Given the description of an element on the screen output the (x, y) to click on. 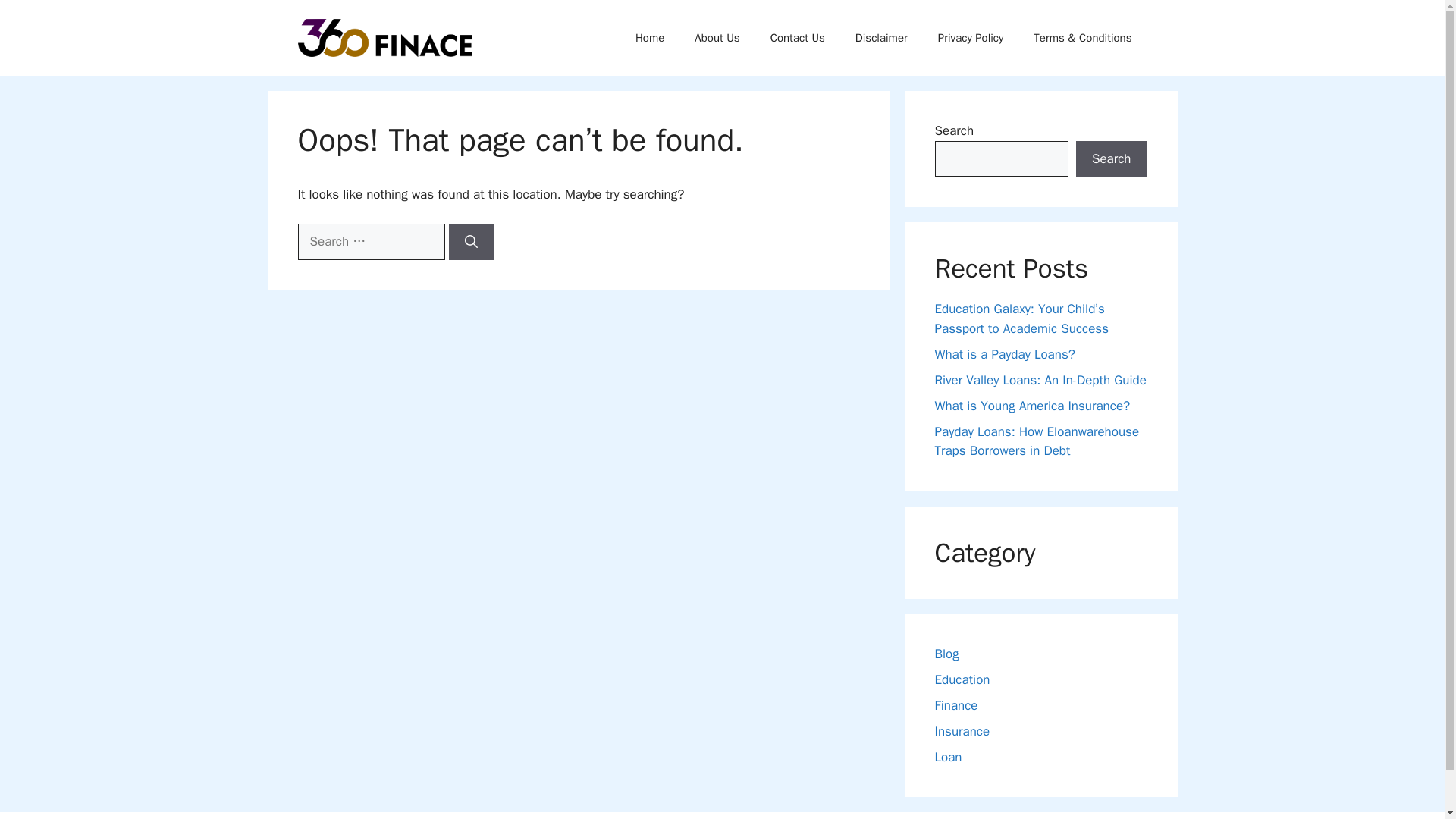
Insurance (962, 731)
Search (1111, 158)
Search for: (370, 241)
Blog (946, 653)
Payday Loans: How Eloanwarehouse Traps Borrowers in Debt (1036, 440)
What is Young America Insurance? (1031, 405)
River Valley Loans: An In-Depth Guide (1039, 379)
Disclaimer (881, 37)
About Us (716, 37)
Privacy Policy (971, 37)
Education (962, 679)
Loan (947, 756)
What is a Payday Loans? (1004, 353)
Contact Us (797, 37)
Finance (955, 705)
